Given the description of an element on the screen output the (x, y) to click on. 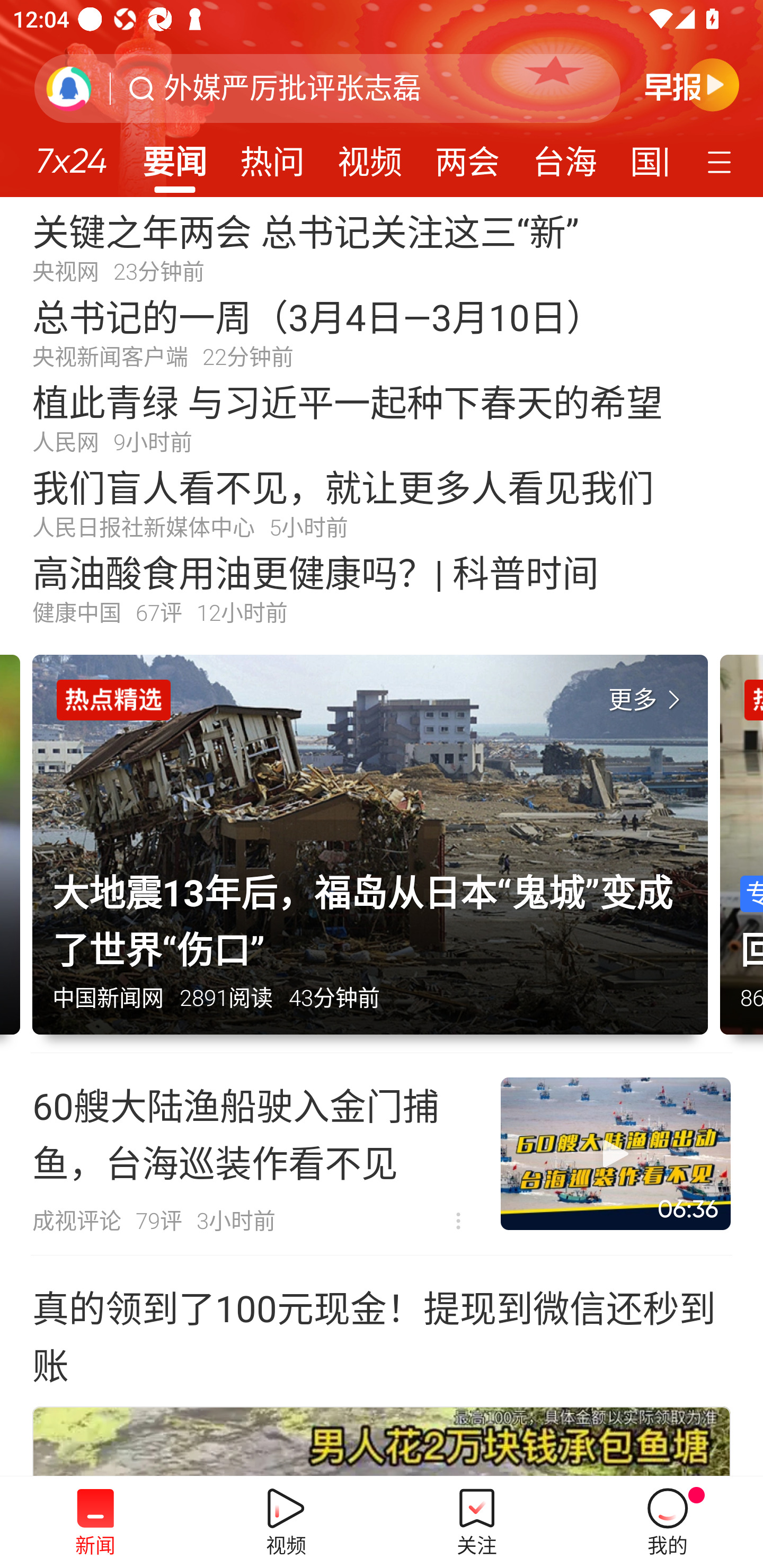
腾讯新闻 (381, 98)
早晚报 (691, 84)
刷新 (68, 88)
外媒严厉批评张志磊 (292, 88)
7x24 (70, 154)
要闻 (174, 155)
热问 (272, 155)
视频 (369, 155)
两会 (466, 155)
台海 (564, 155)
 定制频道 (721, 160)
关键之年两会 总书记关注这三“新” 央视网 23分钟前 (381, 245)
总书记的一周（3月4日—3月10日） 央视新闻客户端 22分钟前 (381, 331)
植此青绿 与习近平一起种下春天的希望 人民网 9小时前 (381, 416)
我们盲人看不见，就让更多人看见我们 人民日报社新媒体中心 5小时前 (381, 502)
高油酸食用油更健康吗？| 科普时间 健康中国 67评 12小时前 (381, 587)
更多  (648, 699)
60艘大陆渔船驶入金门捕鱼，台海巡装作看不见 成视评论 79评 3小时前  不感兴趣 06:36 (381, 1153)
 不感兴趣 (458, 1221)
真的领到了100元现金！提现到微信还秒到账 (381, 1334)
